Given the description of an element on the screen output the (x, y) to click on. 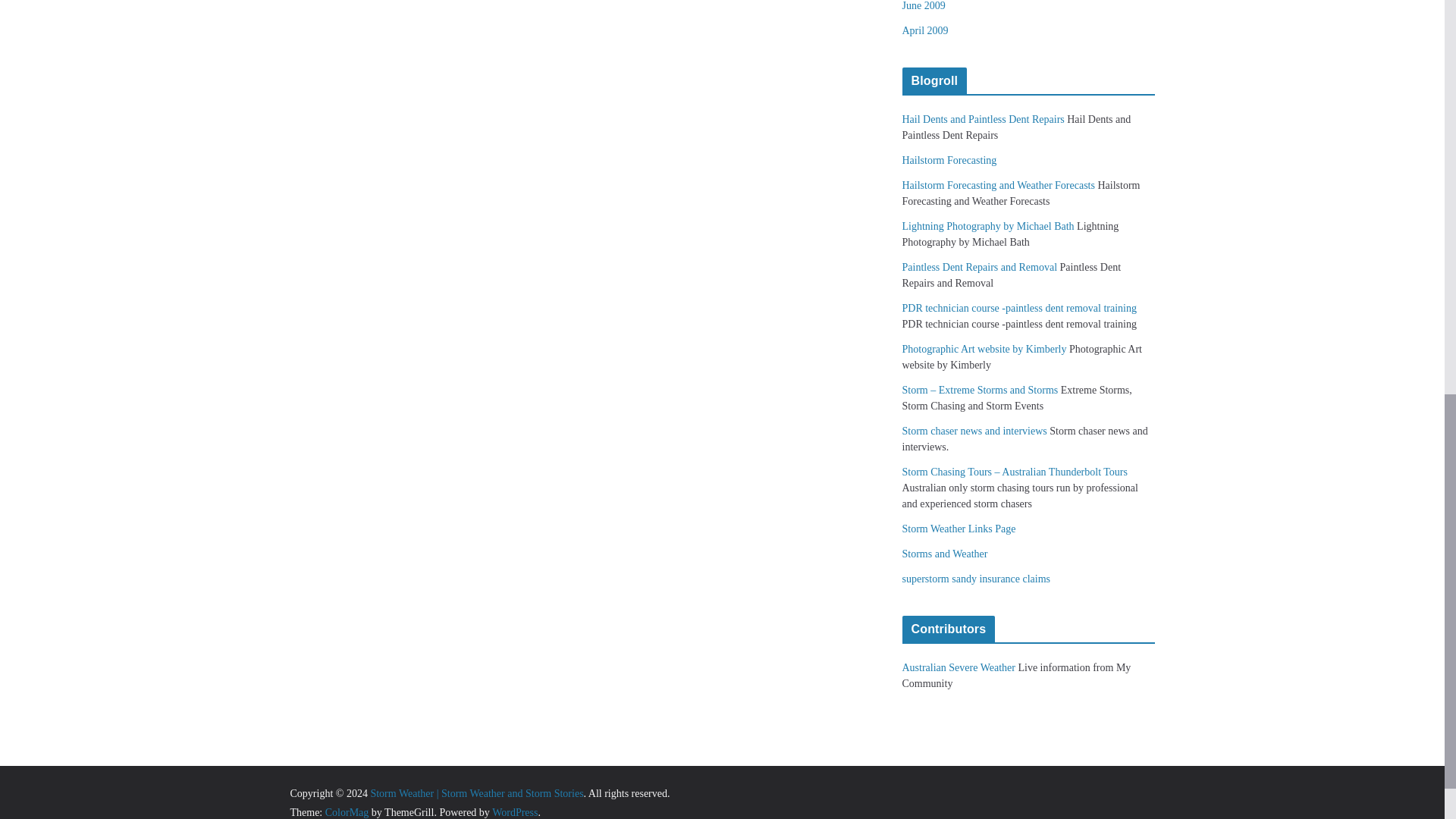
Paintless Dent Repairs and Removal (980, 266)
Live information from My Community (958, 667)
Storm chaser news and interviews. (974, 430)
WordPress (514, 812)
PDR technician course -paintless dent removal training (1019, 307)
Hail Dents and Paintless Dent Repairs (983, 119)
Photographic Art website by Kimberly (984, 348)
Storm Weather Links Page (959, 528)
June 2009 (923, 5)
Photographic Art website by Kimberly (984, 348)
